Given the description of an element on the screen output the (x, y) to click on. 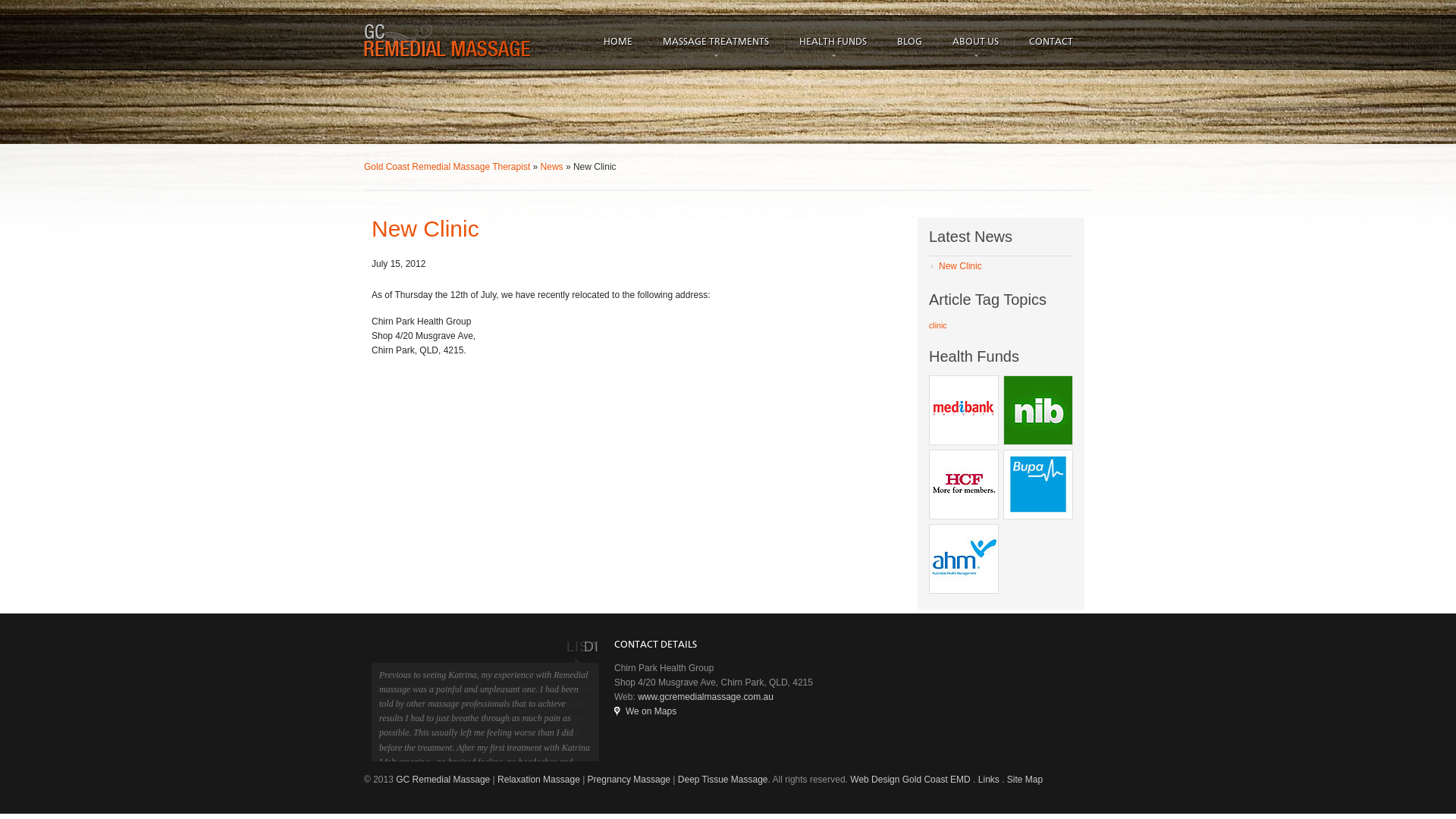
We on Maps Element type: text (645, 711)
BLOG Element type: text (909, 41)
CONTACT Element type: text (1050, 41)
www.gcremedialmassage.com.au Element type: text (705, 696)
GC Remedial Massage Element type: text (442, 779)
clinic Element type: text (937, 324)
Relaxation Massage Element type: text (538, 779)
Links Element type: text (988, 779)
Deep Tissue Massage Element type: text (722, 779)
Pregnancy Massage Element type: text (628, 779)
News Element type: text (551, 166)
Gold Coast Remedial Massage Therapist Element type: text (447, 166)
Site Map Element type: text (1024, 779)
New Clinic Element type: text (1000, 265)
Web Design Gold Coast EMD Element type: text (910, 779)
HOME Element type: text (617, 41)
